Given the description of an element on the screen output the (x, y) to click on. 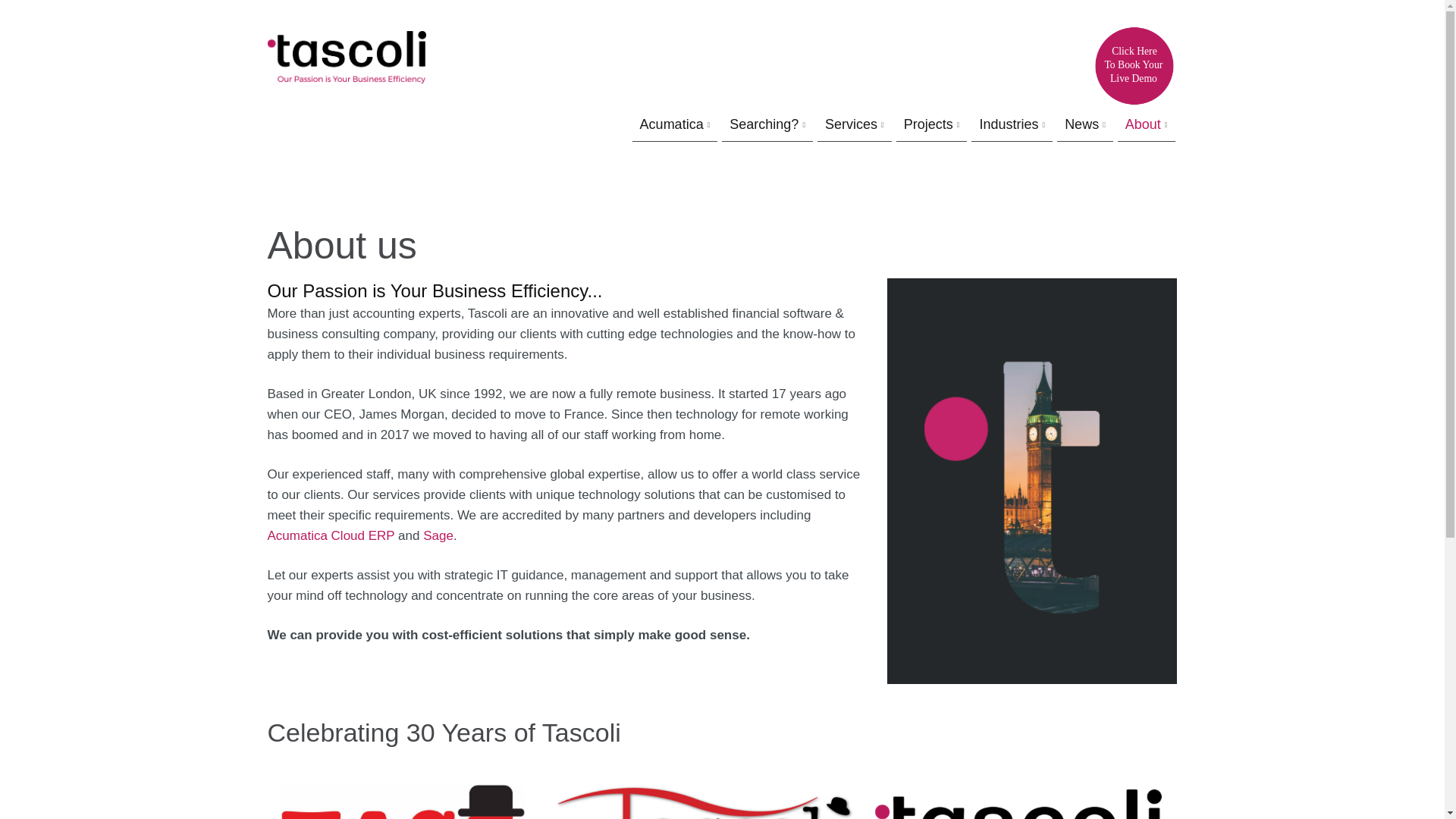
Searching? (763, 125)
Acumatica (671, 125)
